Given the description of an element on the screen output the (x, y) to click on. 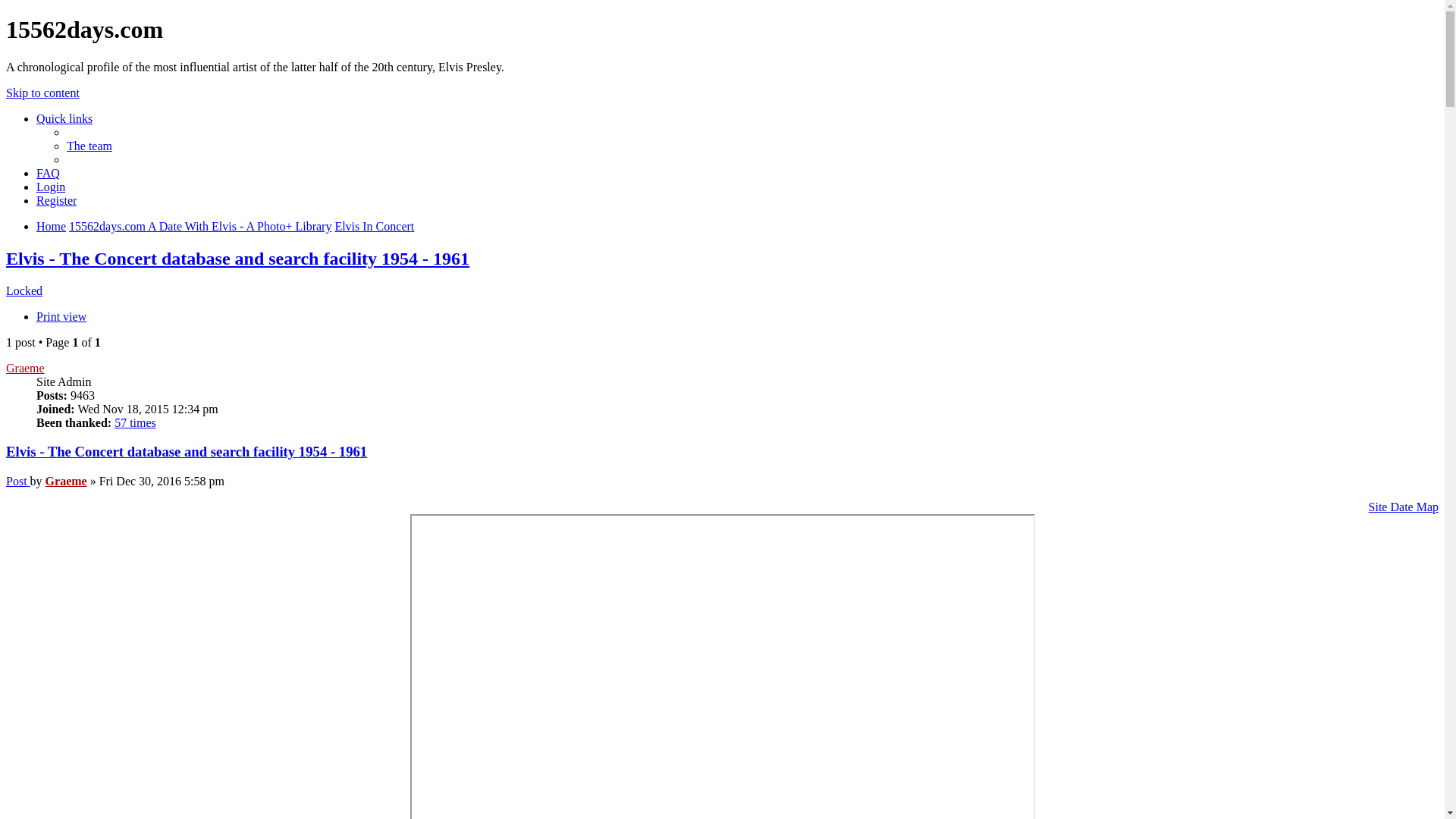
Elvis - The Concert database and search facility 1954 - 1961 Element type: text (186, 451)
Skip to content Element type: text (42, 92)
Login Element type: text (50, 186)
15562days.com A Date With Elvis - A Photo+ Library Element type: text (200, 225)
The team Element type: text (89, 145)
Print view Element type: text (61, 316)
Site Date Map Element type: text (1403, 506)
Locked Element type: text (24, 290)
Quick links Element type: text (64, 118)
Elvis In Concert Element type: text (374, 225)
Graeme Element type: text (66, 480)
Graeme Element type: text (25, 367)
Register Element type: text (56, 200)
Elvis - The Concert database and search facility 1954 - 1961 Element type: text (237, 258)
Home Element type: text (50, 225)
57 times Element type: text (135, 422)
FAQ Element type: text (47, 172)
Post Element type: text (18, 480)
